Given the description of an element on the screen output the (x, y) to click on. 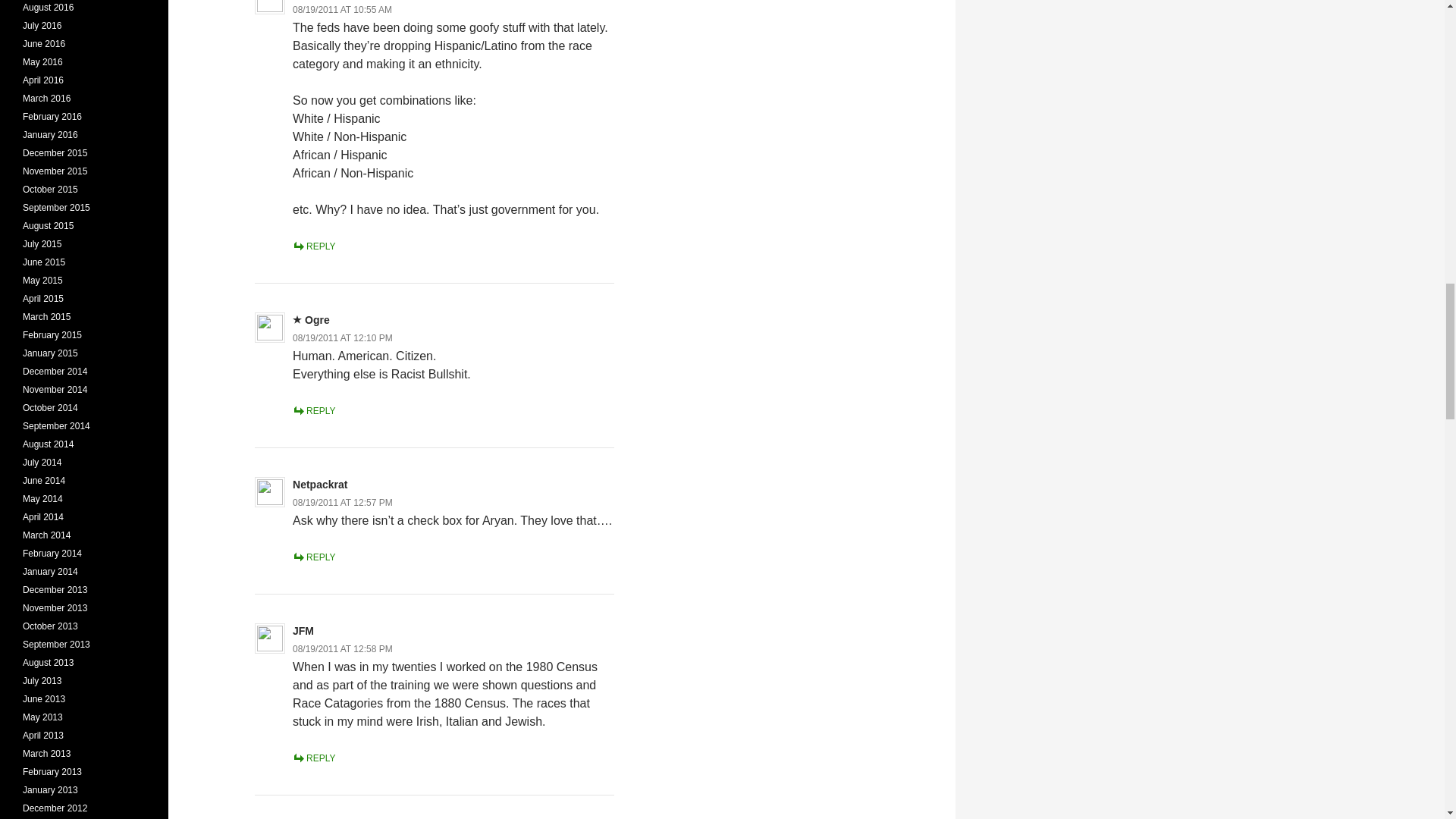
REPLY (313, 410)
REPLY (313, 757)
Ogre (317, 319)
REPLY (313, 245)
Netpackrat (319, 484)
REPLY (313, 557)
